Given the description of an element on the screen output the (x, y) to click on. 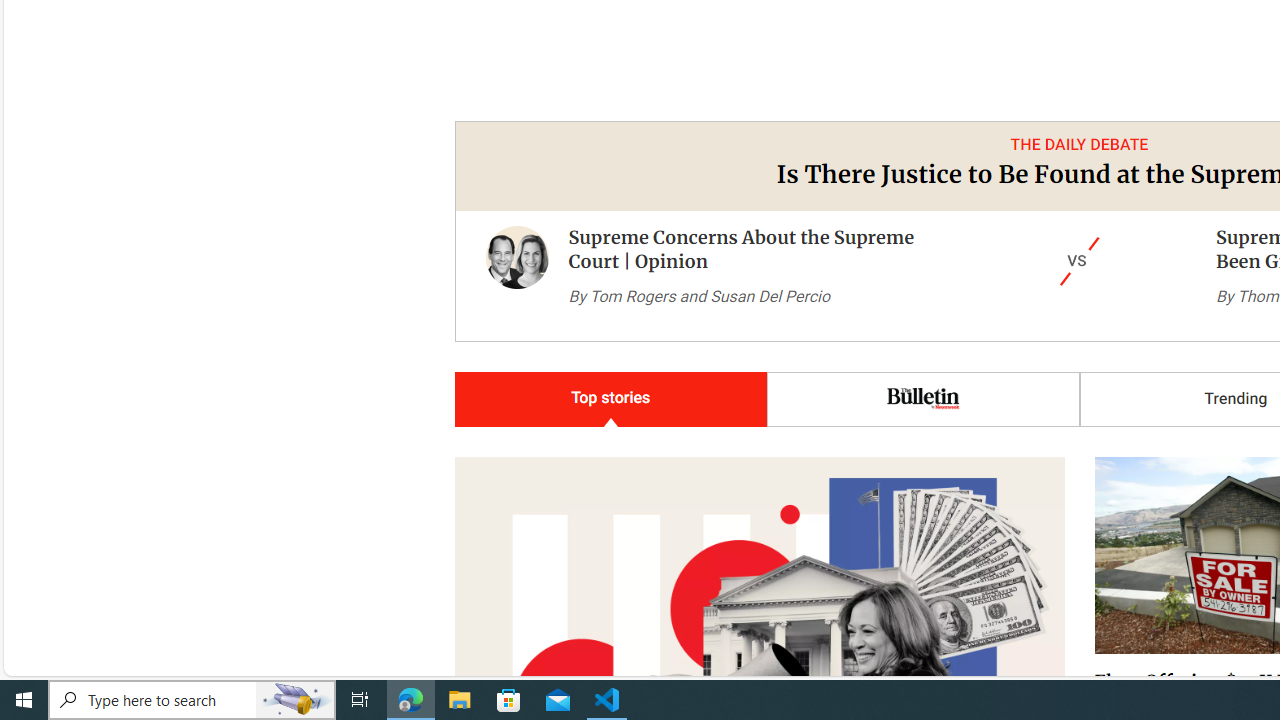
By Aliss Higham (504, 597)
Supreme Concerns About the Supreme Court | Opinion (741, 249)
By Suzanne Blake (1149, 574)
Kamala Harris Tax Plans: What Could Happen (728, 492)
Top stories (610, 399)
Supreme Concerns About the Supreme Court | Opinion (517, 276)
